Given the description of an element on the screen output the (x, y) to click on. 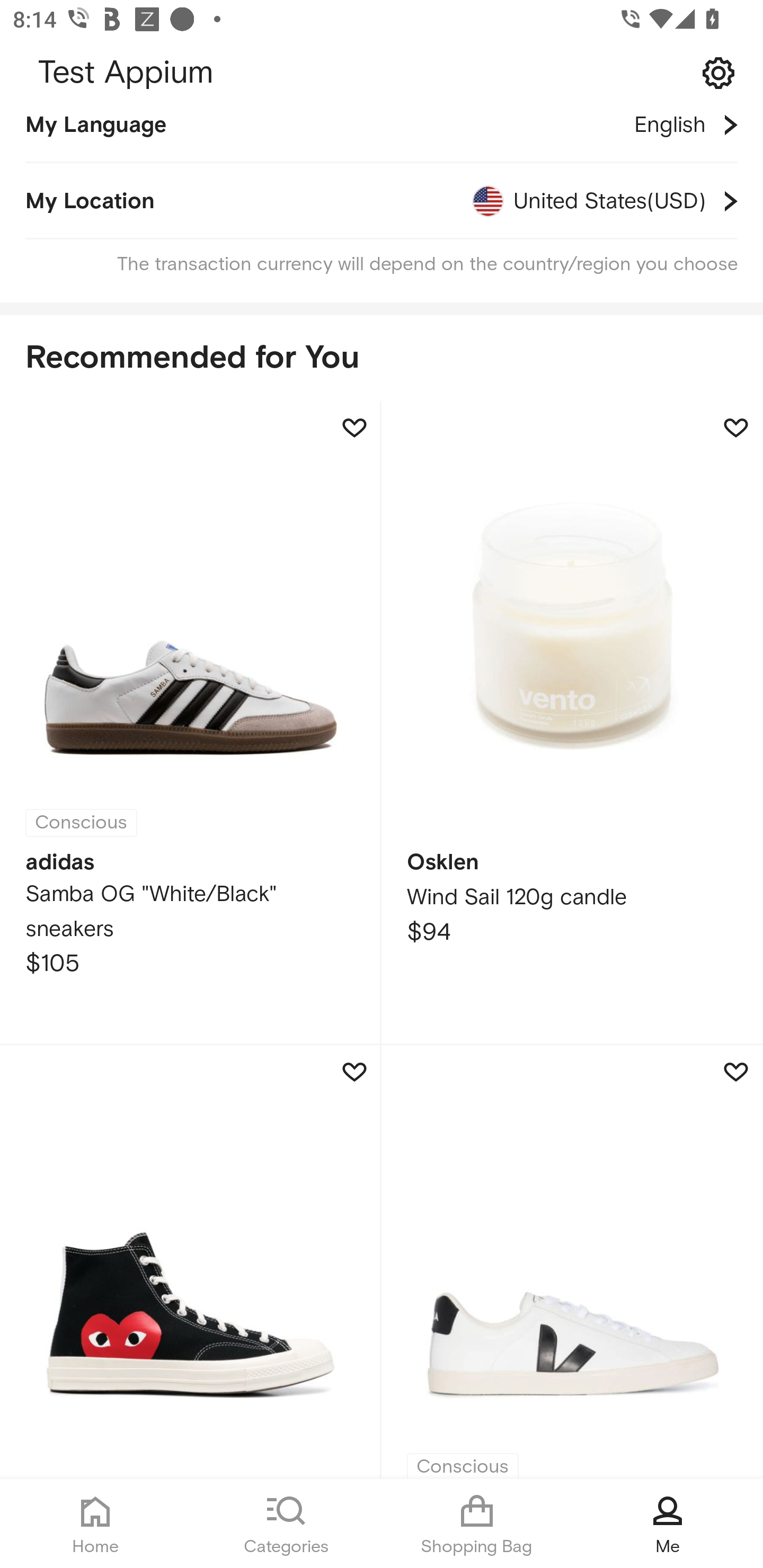
Test Appium (381, 72)
My Language English (381, 137)
My Location United States(USD) (381, 201)
Osklen Wind Sail 120g candle $94 (572, 723)
Conscious (572, 1261)
Home (95, 1523)
Categories (285, 1523)
Shopping Bag (476, 1523)
